Given the description of an element on the screen output the (x, y) to click on. 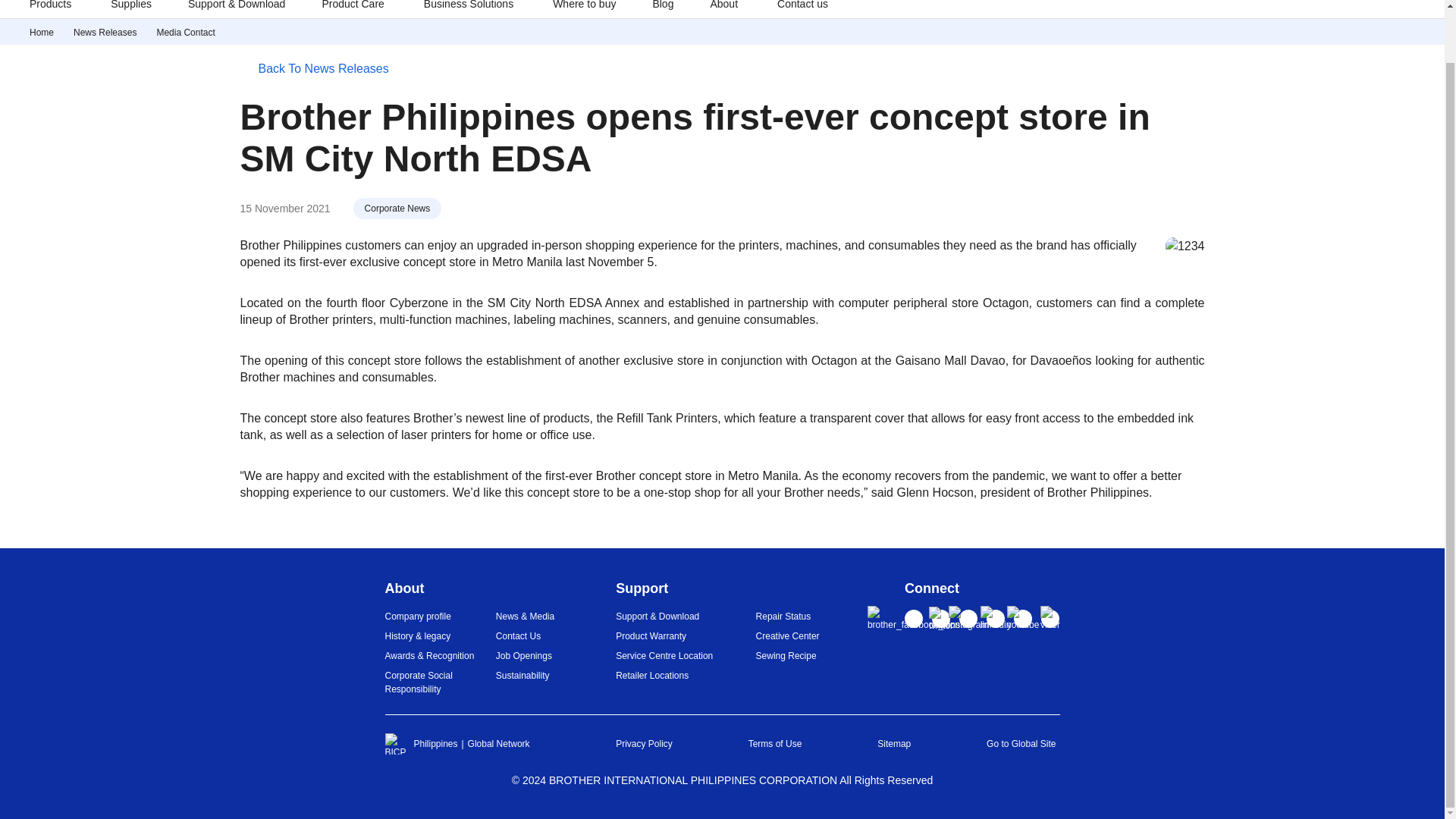
Supplies (130, 9)
concept-store-in-sm-city-north-edsa (184, 32)
Home (41, 32)
news (105, 32)
